Given the description of an element on the screen output the (x, y) to click on. 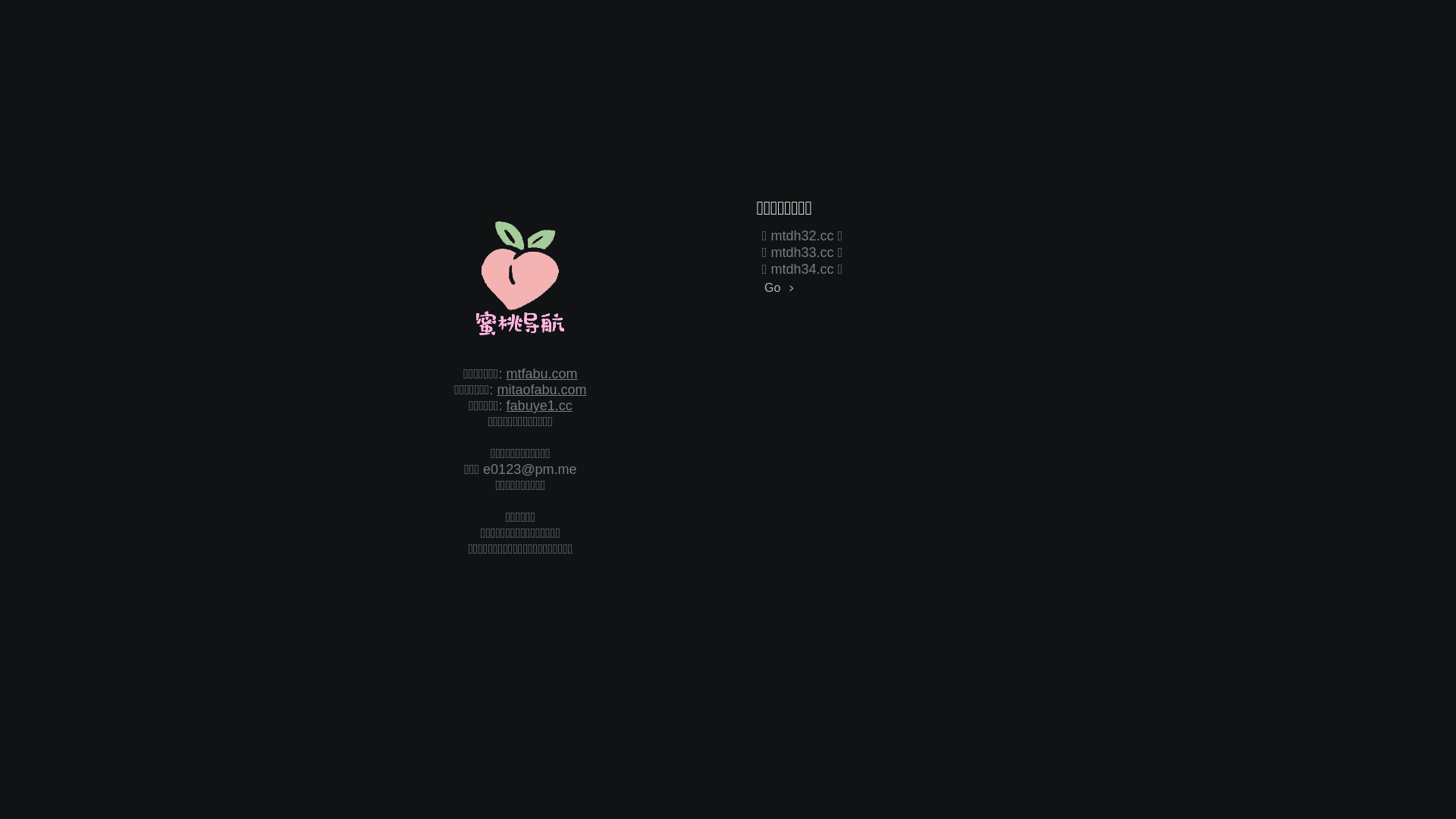
mtfabu.com Element type: text (541, 373)
mitaofabu.com Element type: text (541, 389)
Go Element type: text (760, 287)
fabuye1.cc Element type: text (539, 405)
